Given the description of an element on the screen output the (x, y) to click on. 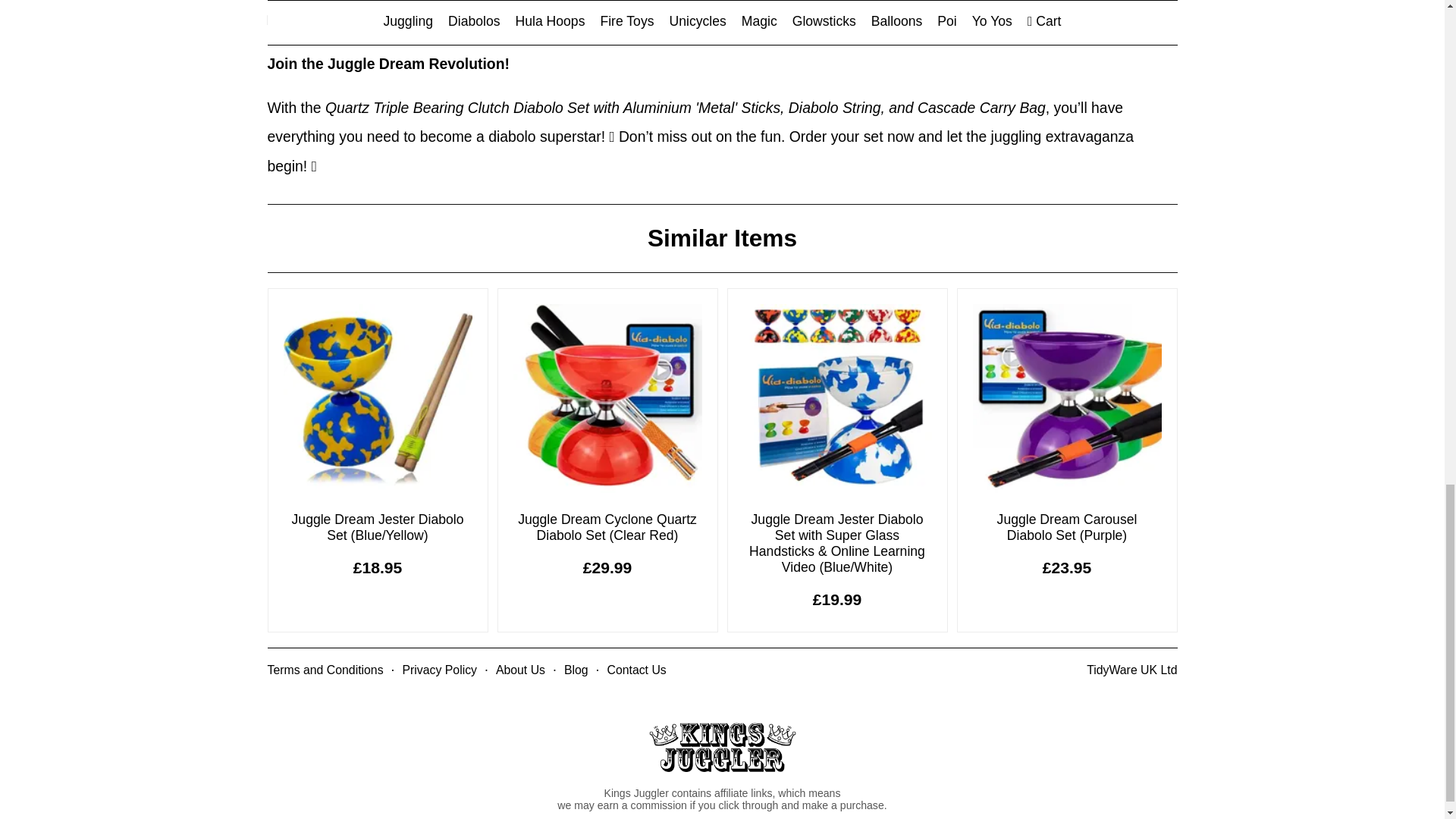
Terms and Conditions (324, 670)
Blog (576, 670)
TidyWare UK Ltd (1131, 670)
Privacy Policy (439, 670)
About Us (520, 670)
Contact Us (636, 670)
